Given the description of an element on the screen output the (x, y) to click on. 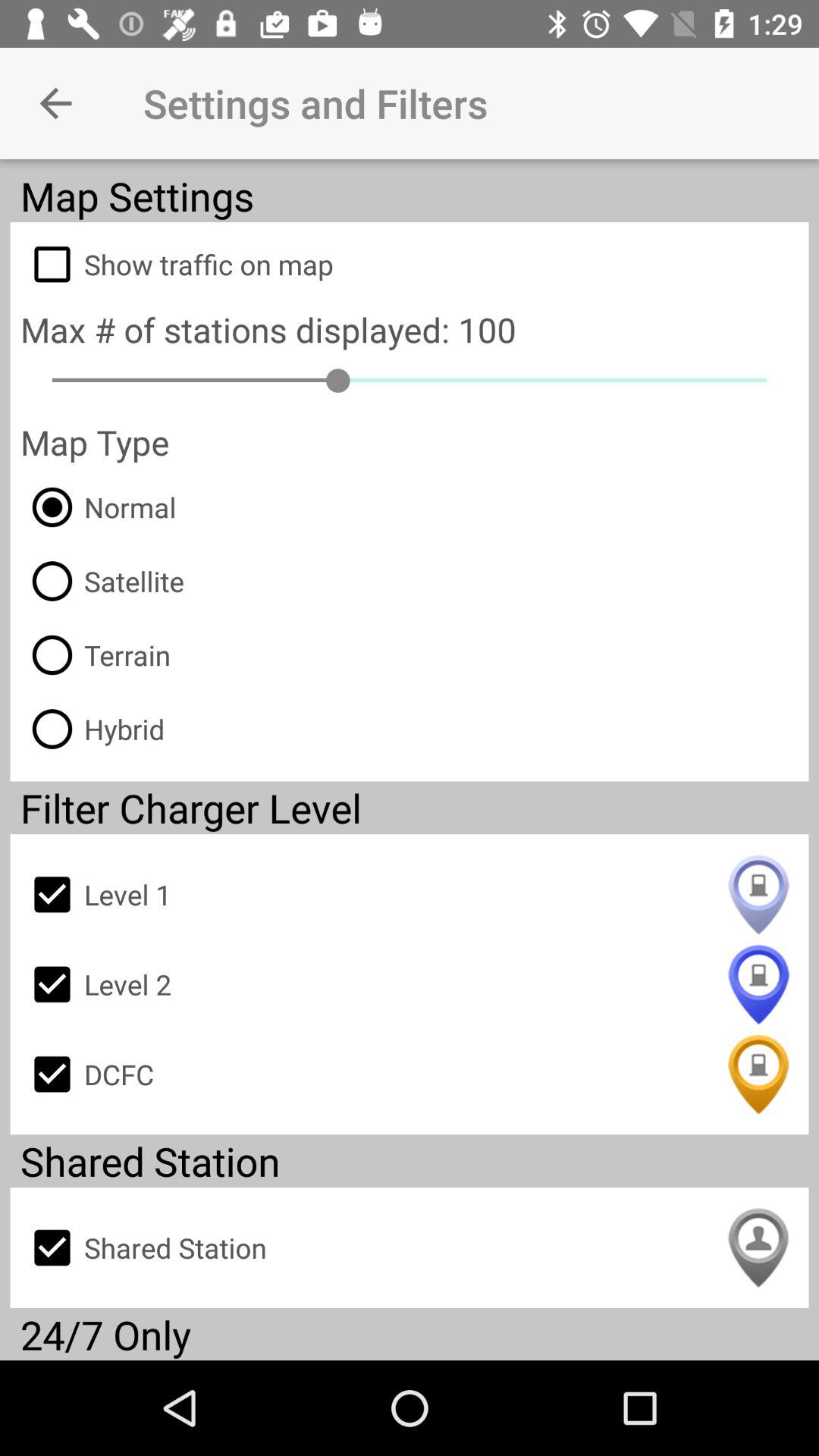
click the item below map settings (409, 264)
